Given the description of an element on the screen output the (x, y) to click on. 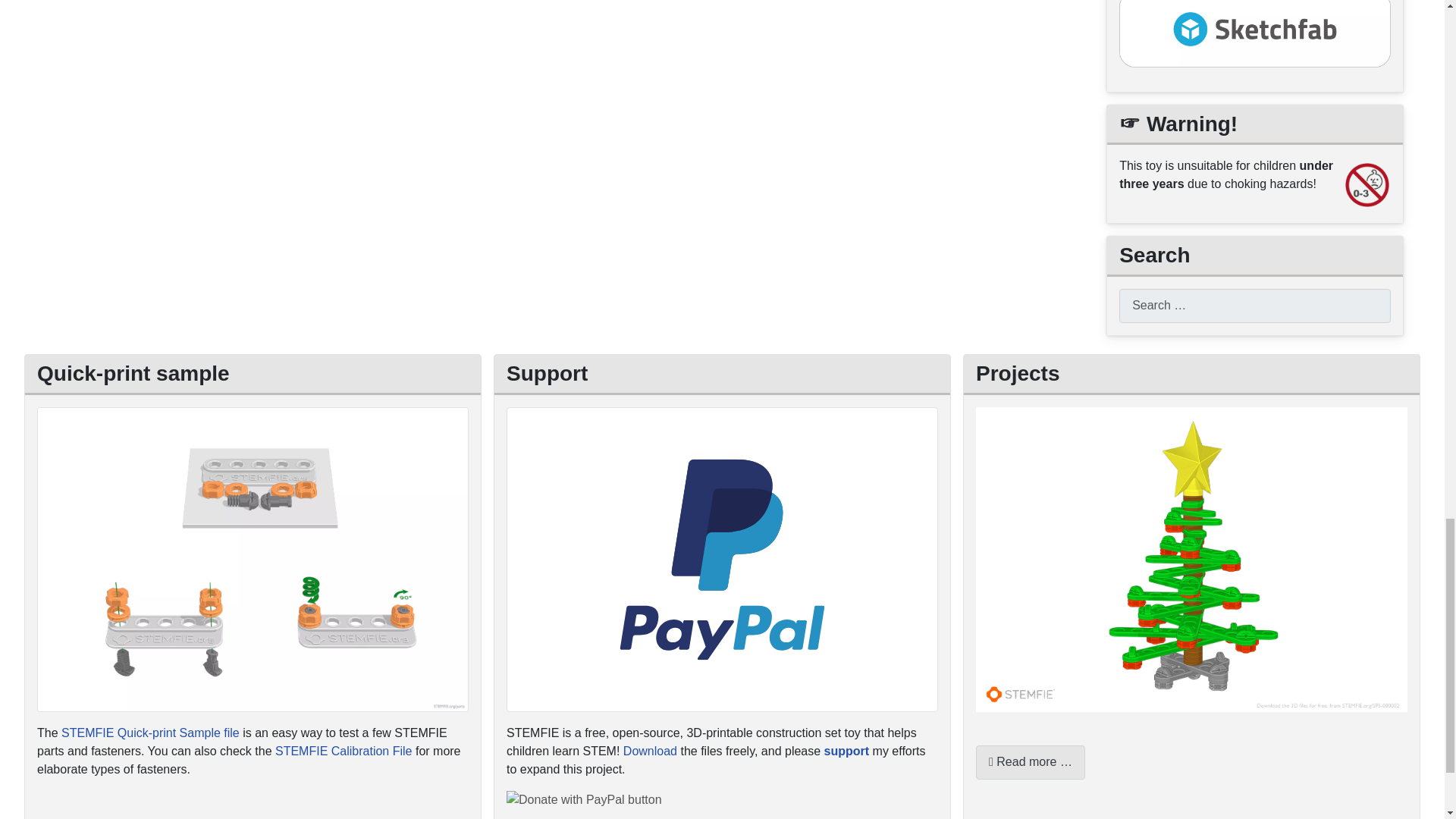
STEMFIE Quick-print Sample file (150, 732)
support (846, 750)
STEMFIE Calibration File (343, 750)
Download (650, 750)
PayPal - The safer, easier way to pay online! (584, 800)
